Given the description of an element on the screen output the (x, y) to click on. 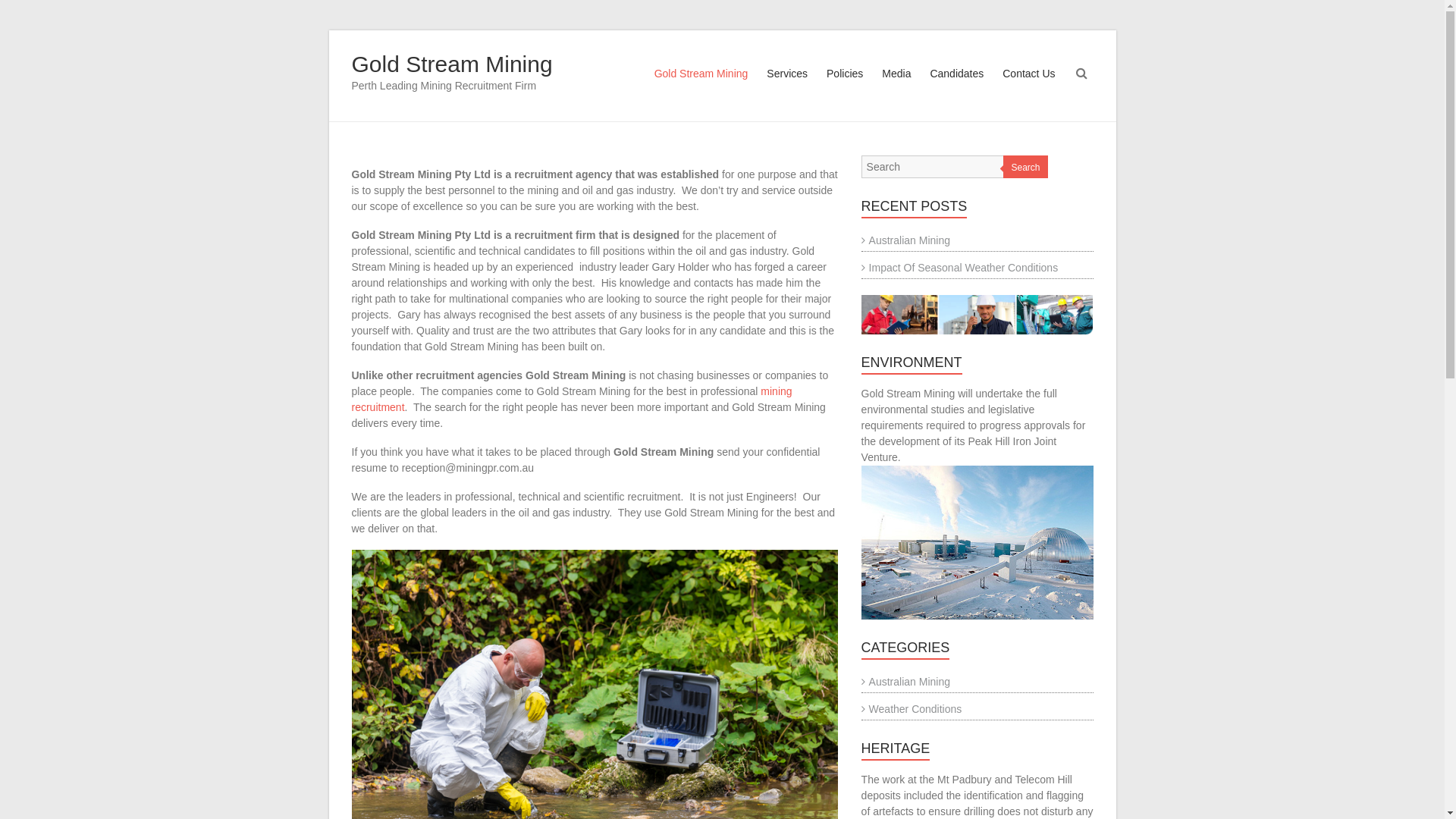
Media Element type: text (895, 87)
Candidates Element type: text (956, 87)
Services Element type: text (786, 87)
Gold Stream Mining Element type: text (701, 87)
Australian Mining Element type: text (905, 240)
Search Element type: text (1025, 166)
Weather Conditions Element type: text (911, 708)
Policies Element type: text (844, 87)
Contact Us Element type: text (1028, 87)
Search Element type: text (21, 11)
Gold Stream Mining Element type: text (451, 63)
Australian Mining Element type: text (905, 681)
mining recruitment Element type: text (571, 399)
Skip to content Element type: text (327, 29)
Impact Of Seasonal Weather Conditions Element type: text (959, 267)
